Given the description of an element on the screen output the (x, y) to click on. 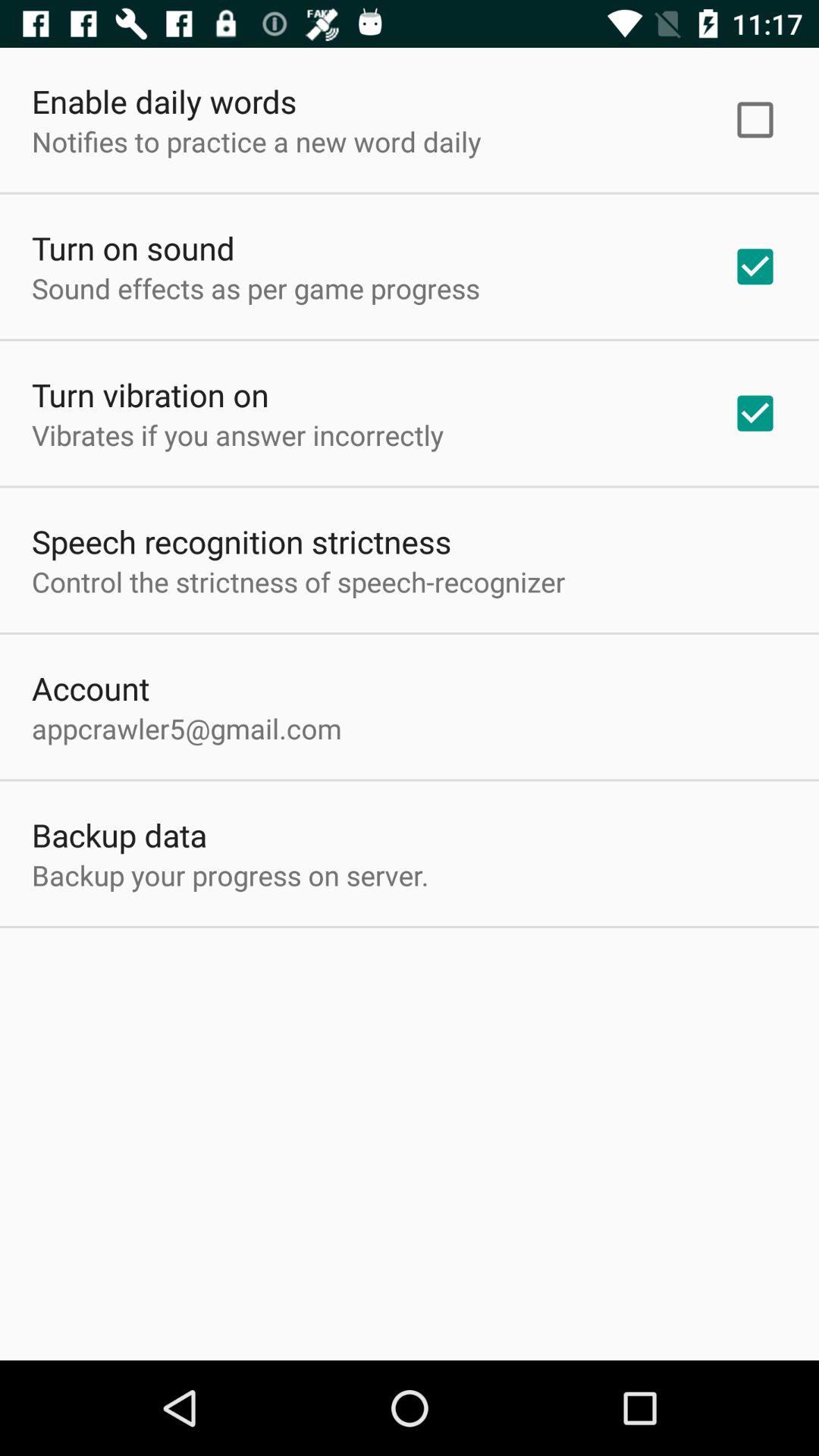
scroll until the vibrates if you item (237, 434)
